Given the description of an element on the screen output the (x, y) to click on. 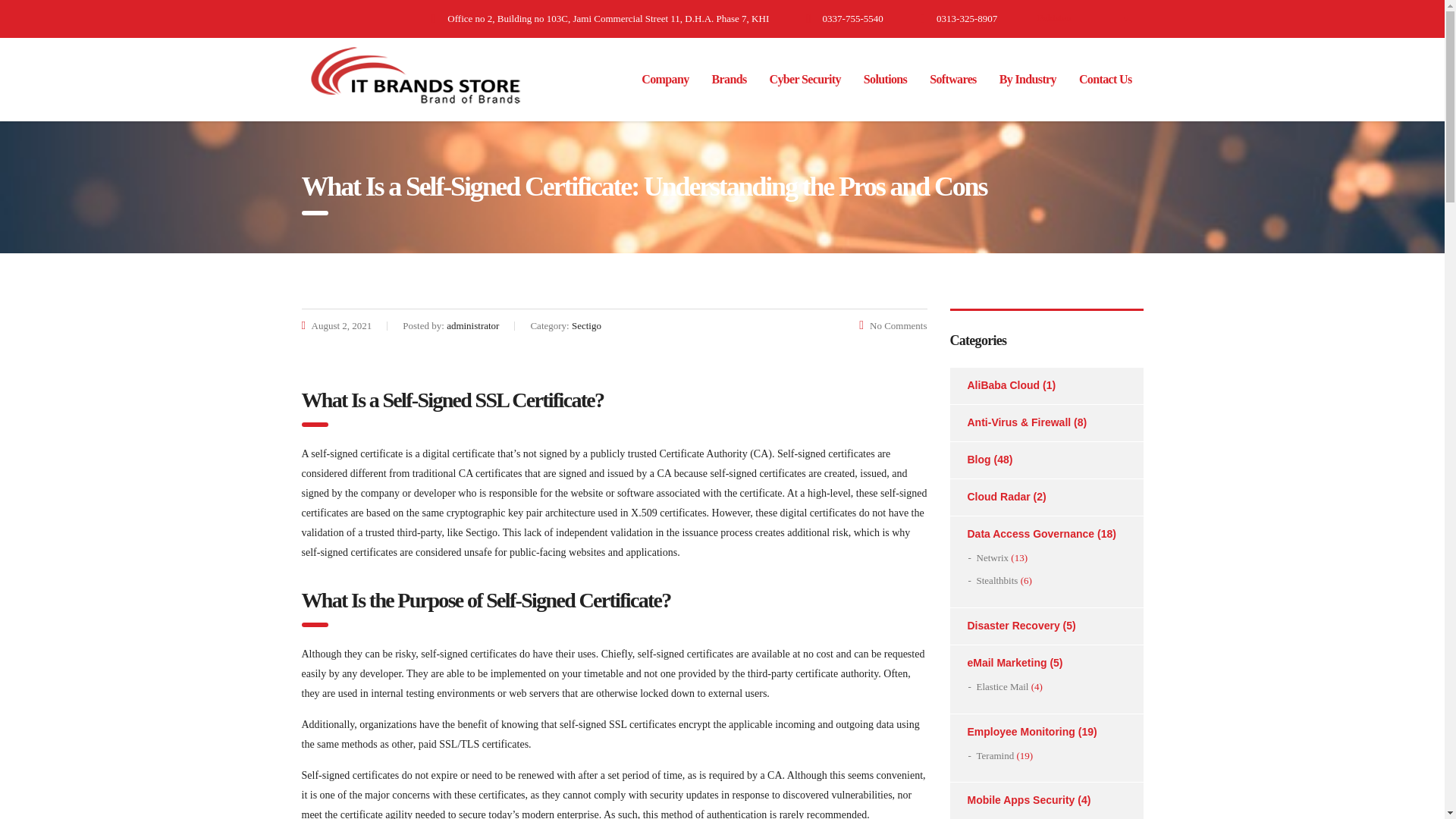
Brands (729, 79)
Cyber Security (804, 79)
Stealthbits official eStore in Pakistan (996, 581)
Company (665, 79)
Elastic Email official store in Pakistan (1002, 687)
